Given the description of an element on the screen output the (x, y) to click on. 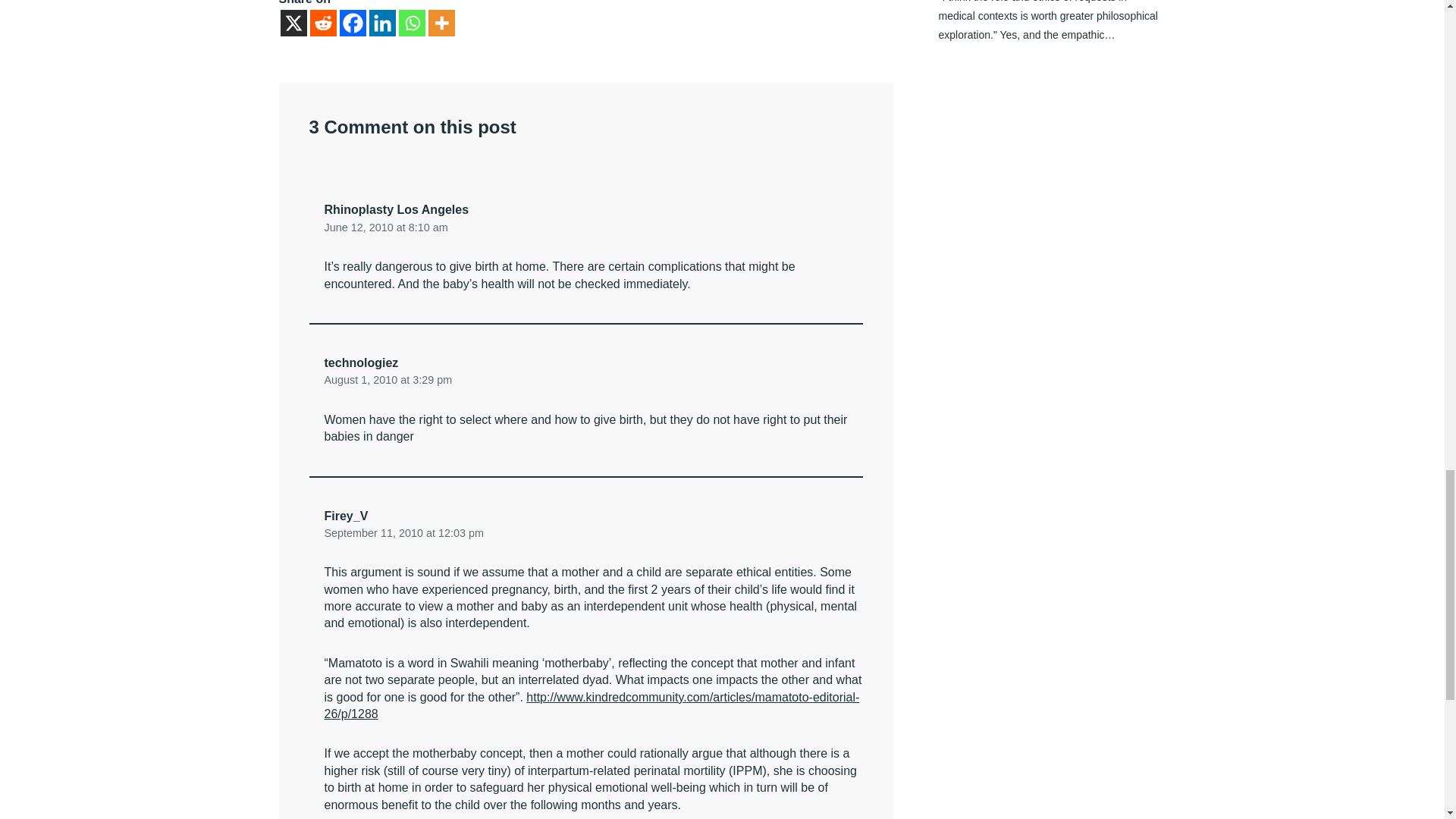
Linkedin (381, 22)
Whatsapp (411, 22)
More (441, 22)
Reddit (322, 22)
Rhinoplasty Los Angeles (396, 209)
Facebook (352, 22)
X (294, 22)
